Given the description of an element on the screen output the (x, y) to click on. 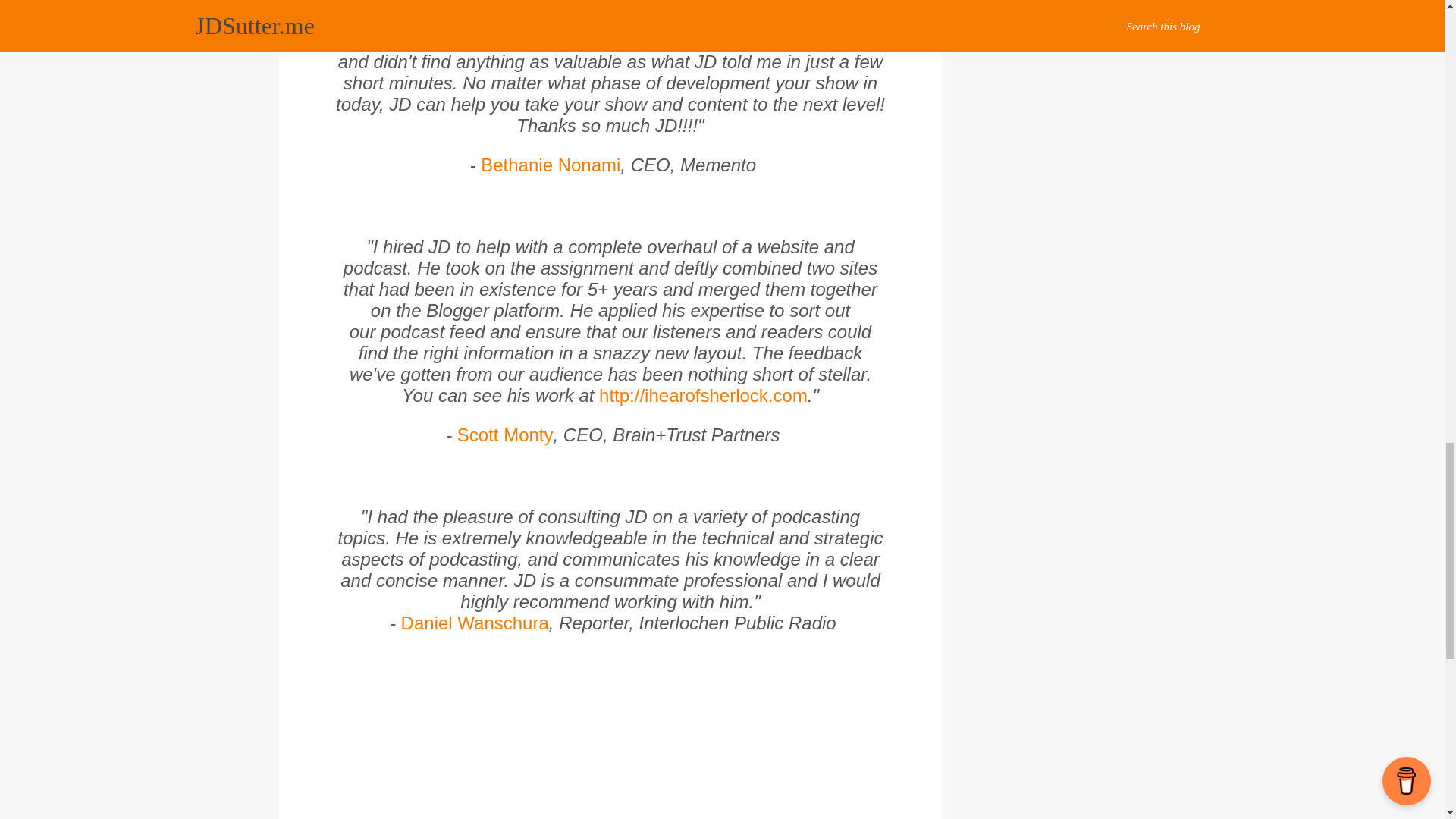
Bethanie Nonami (550, 164)
Scott Monty (505, 435)
Email Post (311, 691)
Daniel Wanschura (474, 622)
